Given the description of an element on the screen output the (x, y) to click on. 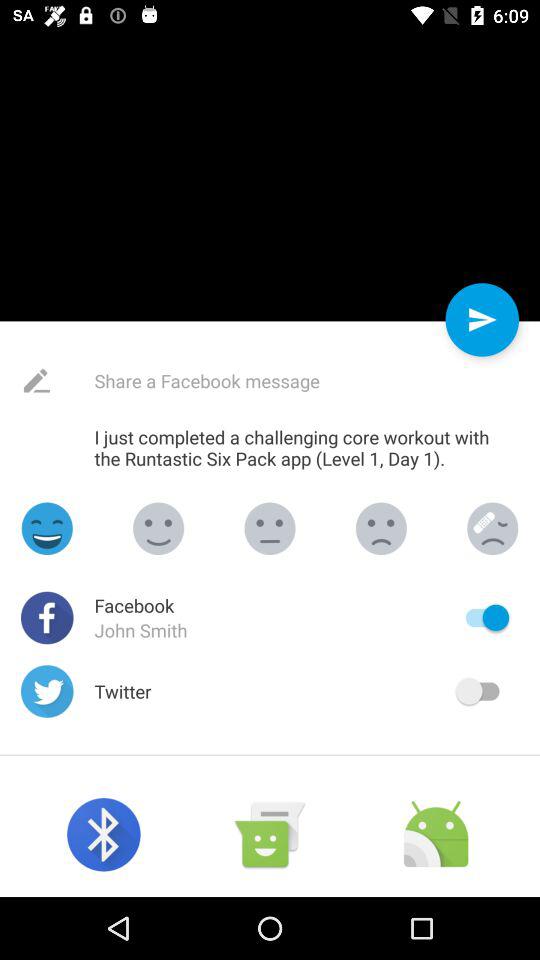
select the first smiley option (47, 528)
